Given the description of an element on the screen output the (x, y) to click on. 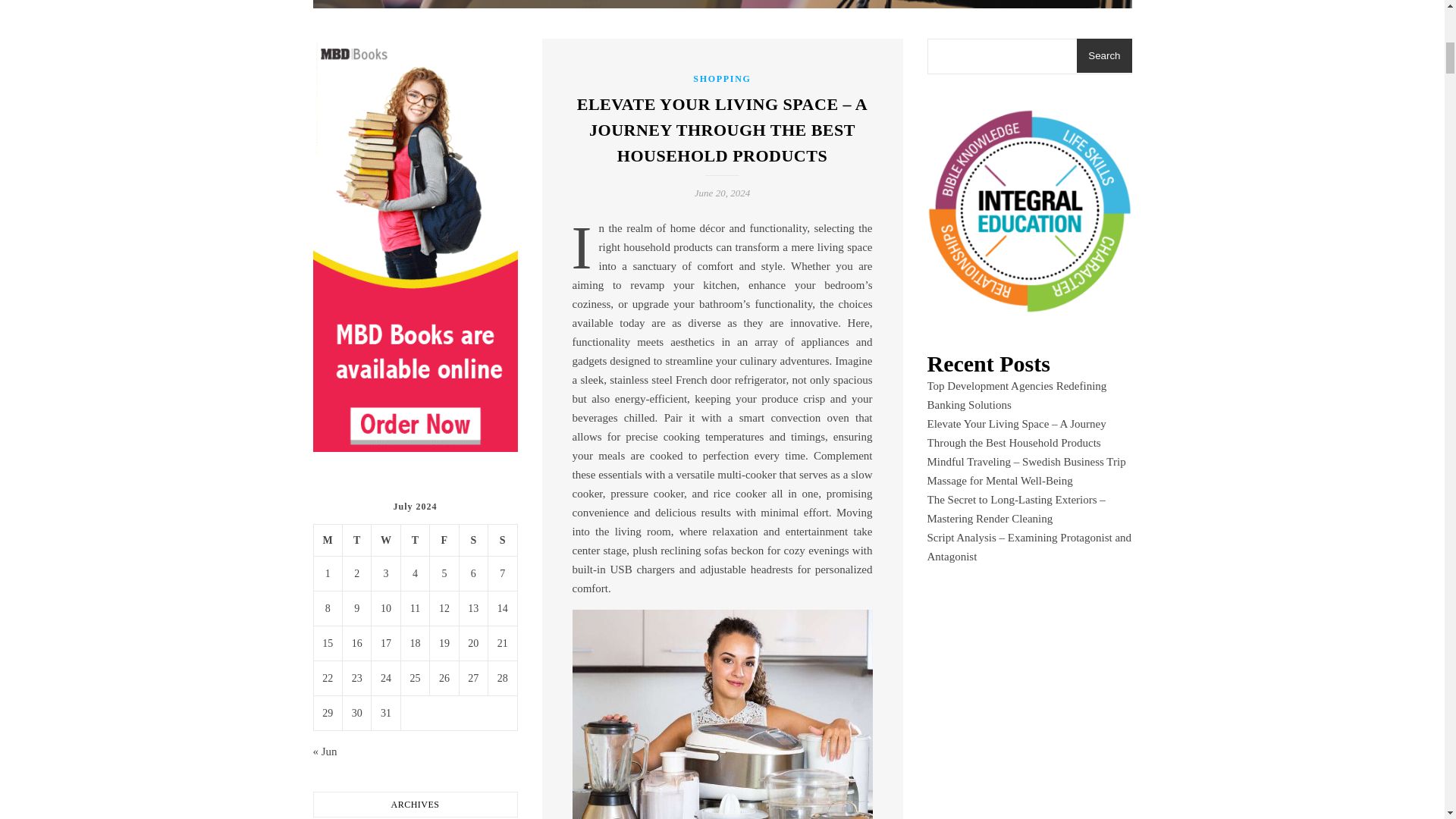
Saturday (472, 540)
Thursday (414, 540)
Wednesday (385, 540)
Monday (327, 540)
Sunday (501, 540)
Friday (443, 540)
Tuesday (356, 540)
